Given the description of an element on the screen output the (x, y) to click on. 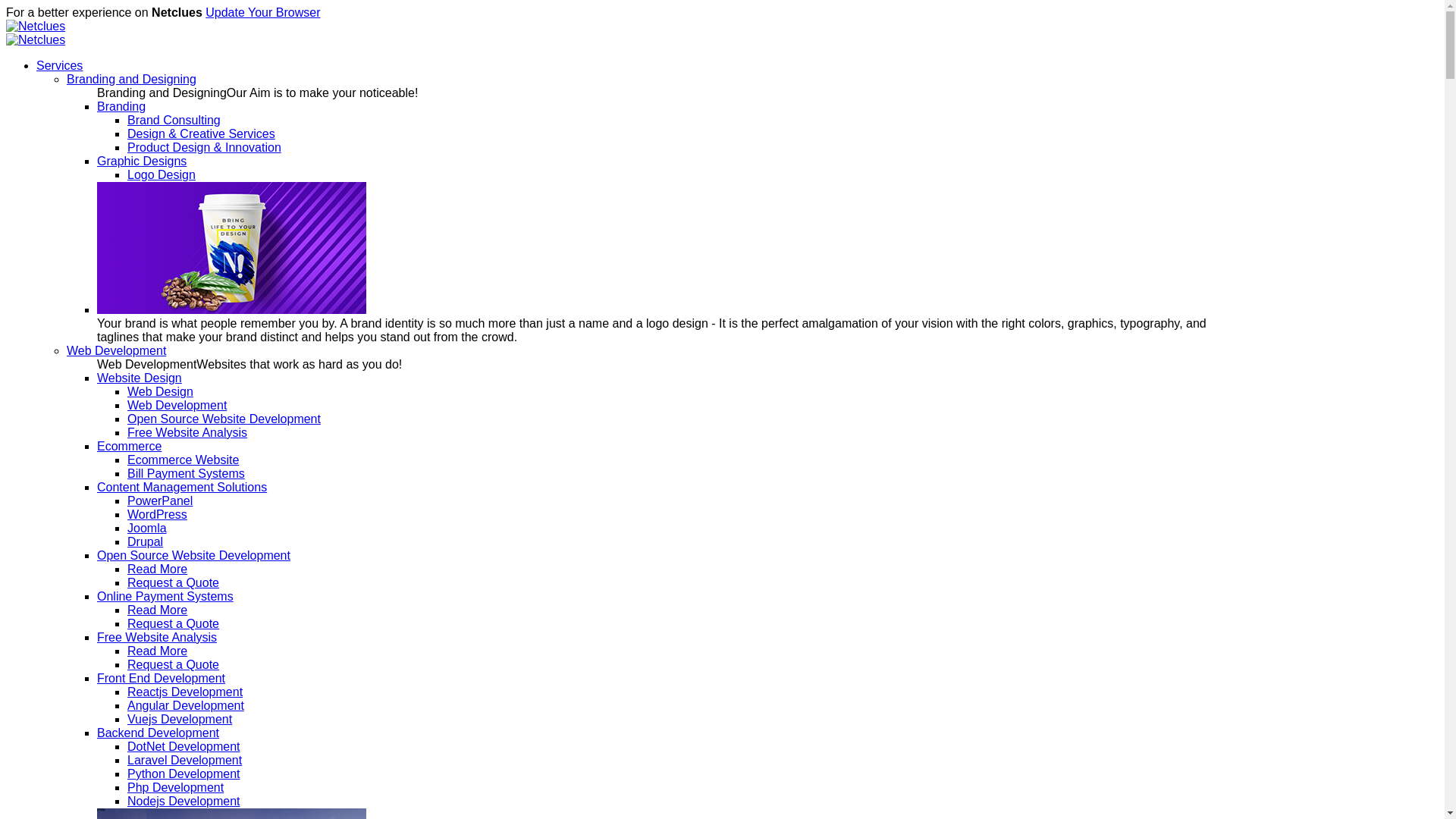
Content Management Solutions (181, 486)
Branding (121, 106)
Update Your Browser (262, 11)
Ecommerce Website (183, 459)
Request a Quote (173, 623)
WordPress (157, 513)
Website Design (139, 377)
Reactjs Development (185, 691)
Web Development (177, 404)
Front End Development (161, 677)
